Given the description of an element on the screen output the (x, y) to click on. 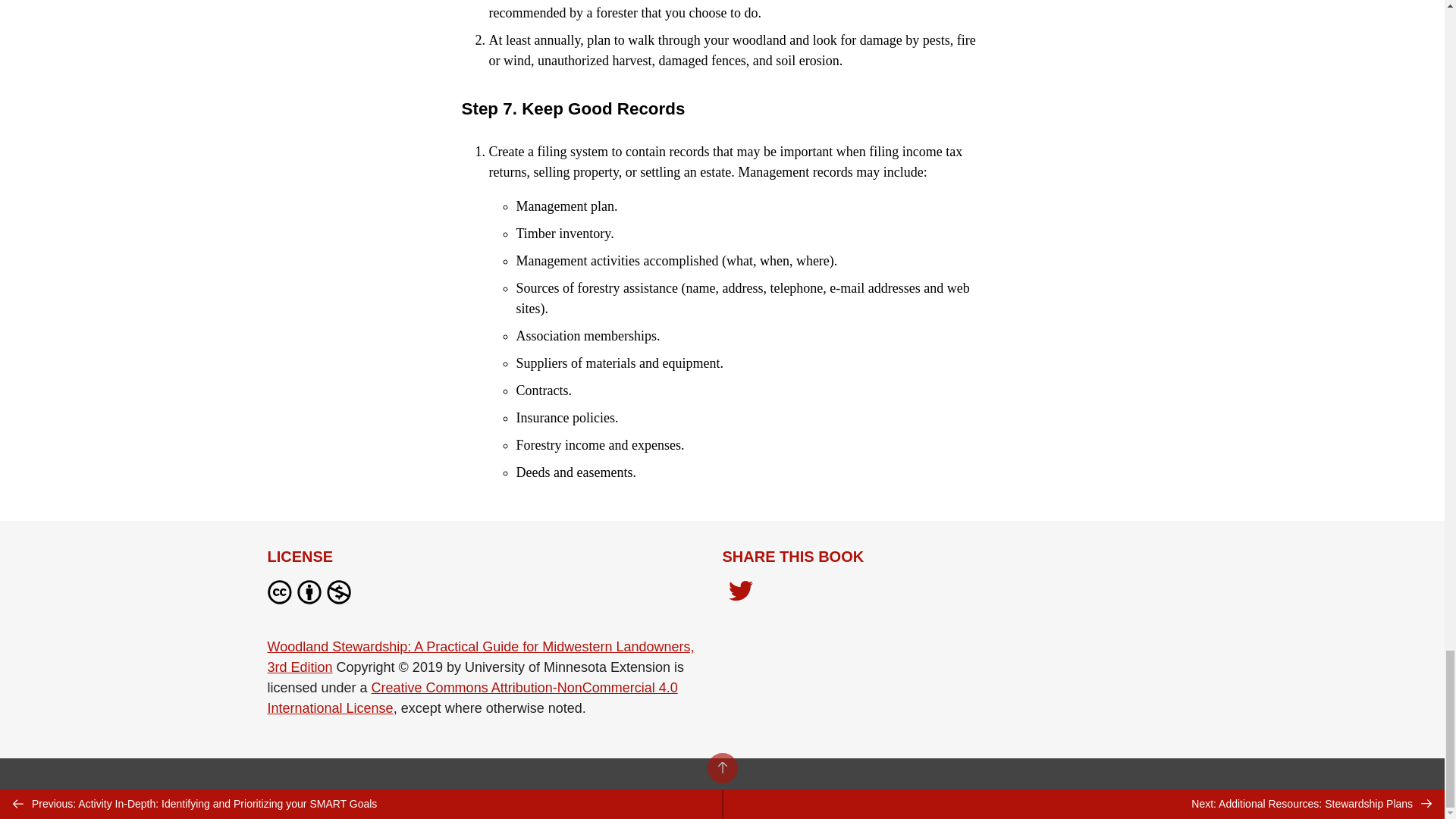
Share on Twitter (740, 594)
Share on Twitter (740, 591)
